Given the description of an element on the screen output the (x, y) to click on. 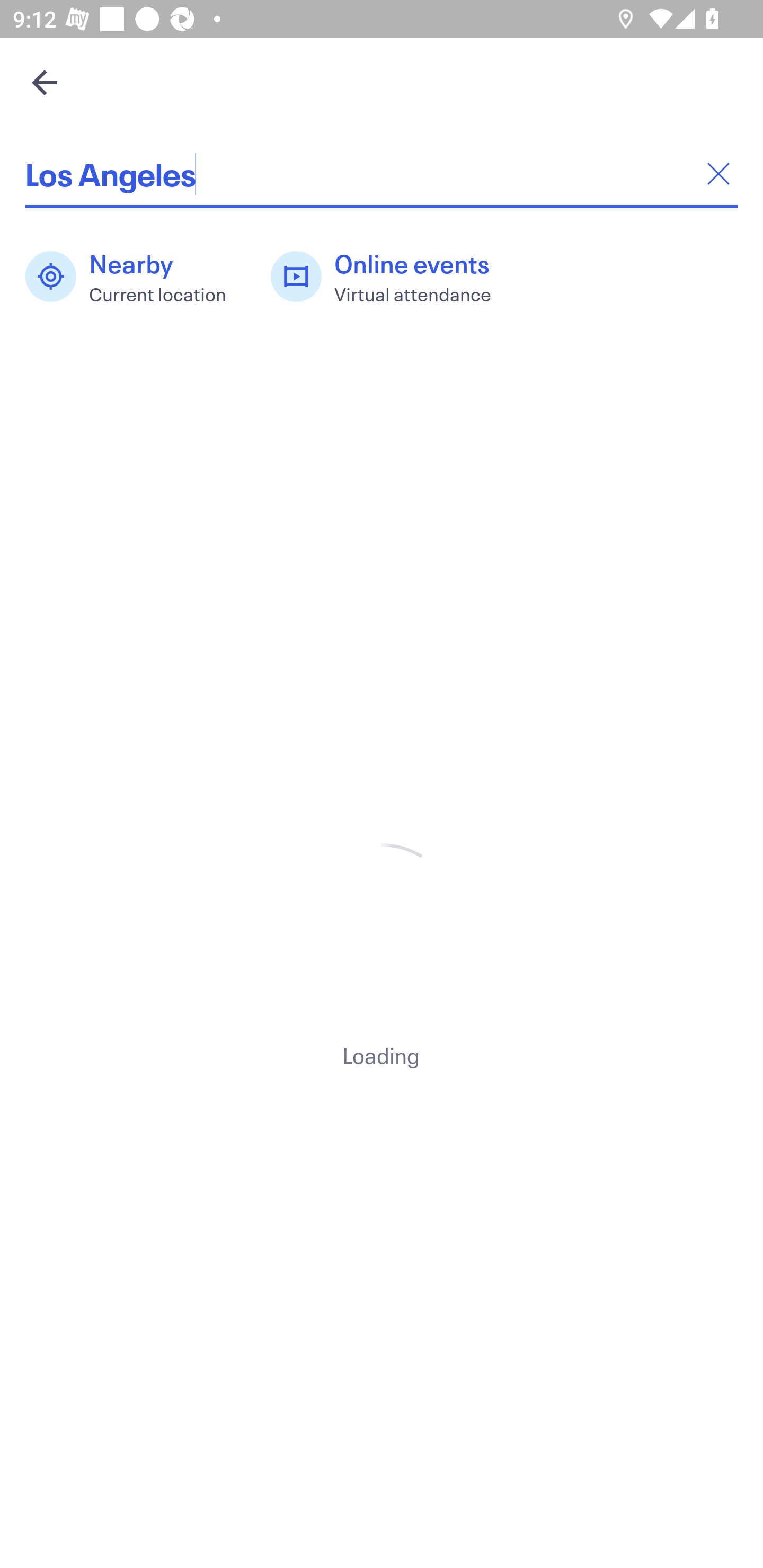
Navigate up (44, 82)
Los Angeles (381, 173)
Nearby Current location (135, 276)
Online events Virtual attendance (390, 276)
